Given the description of an element on the screen output the (x, y) to click on. 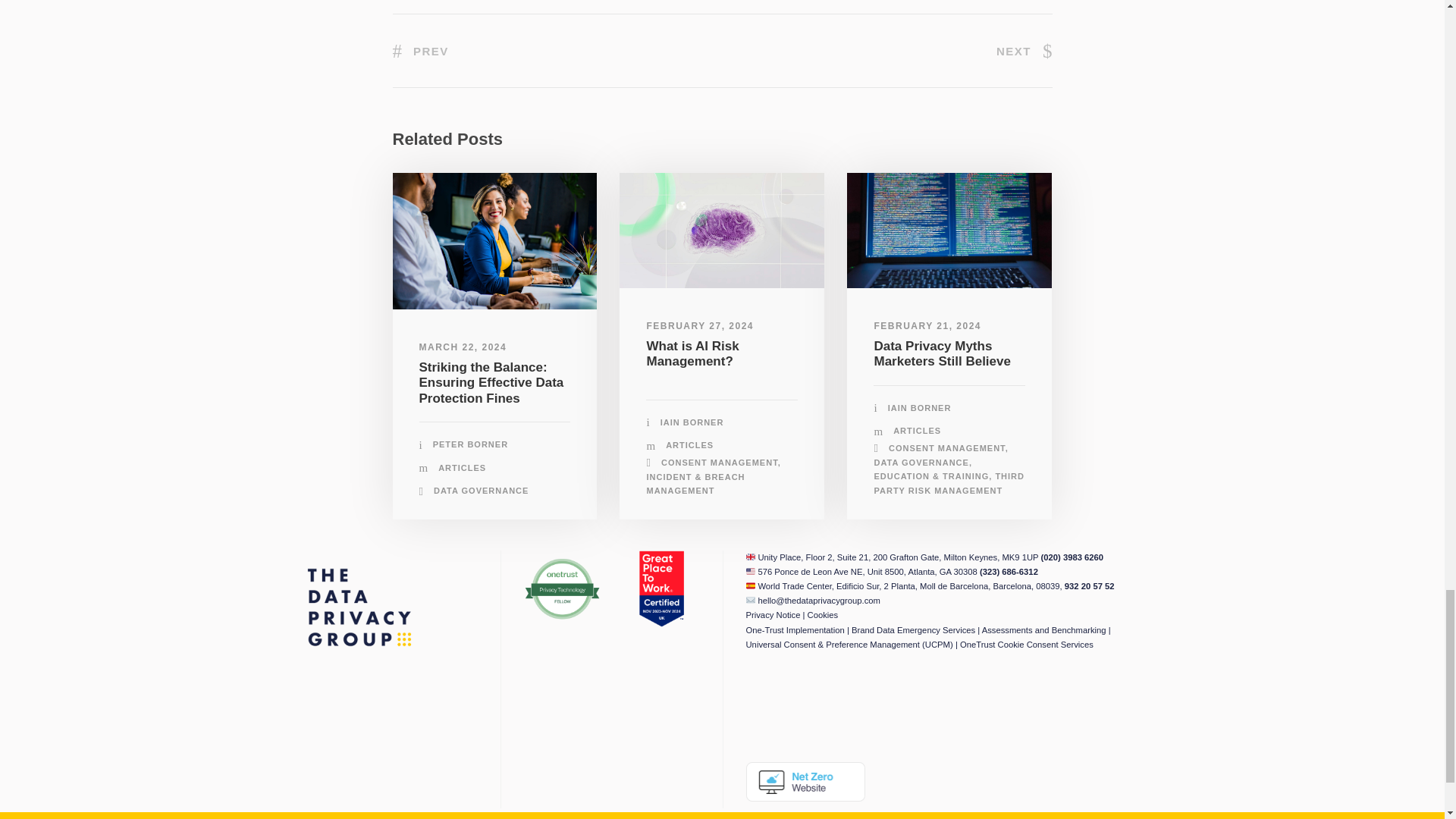
pexels-google-deepmind-17483868 (722, 230)
Posts by Peter Borner (470, 443)
data-governance (494, 240)
